Given the description of an element on the screen output the (x, y) to click on. 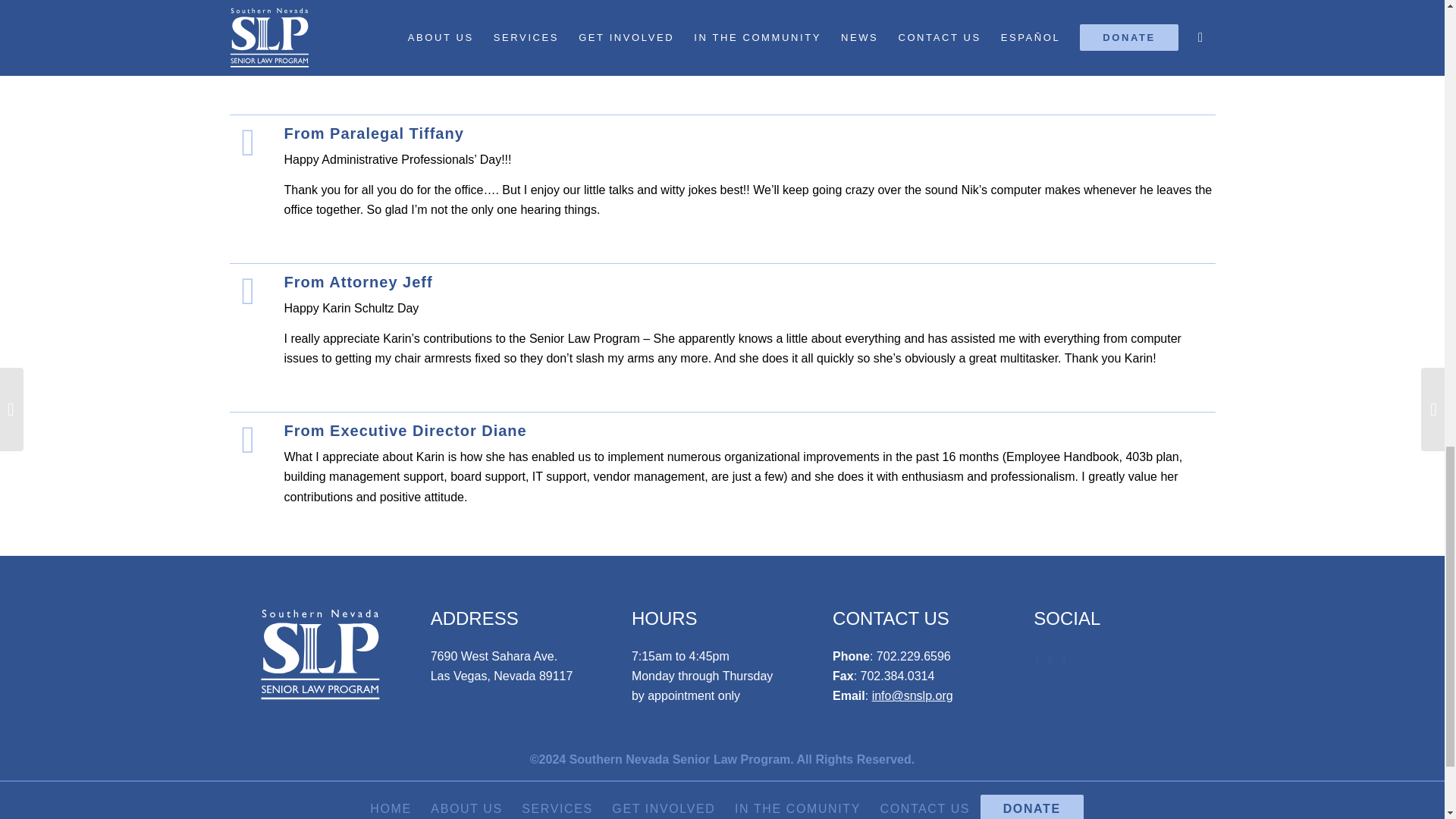
CONTACT US (924, 808)
SNSLP Logo White (320, 655)
GET INVOLVED (662, 808)
DONATE (1031, 808)
SERVICES (555, 808)
IN THE COMUNITY (796, 808)
ABOUT US (465, 808)
HOME (390, 808)
